Given the description of an element on the screen output the (x, y) to click on. 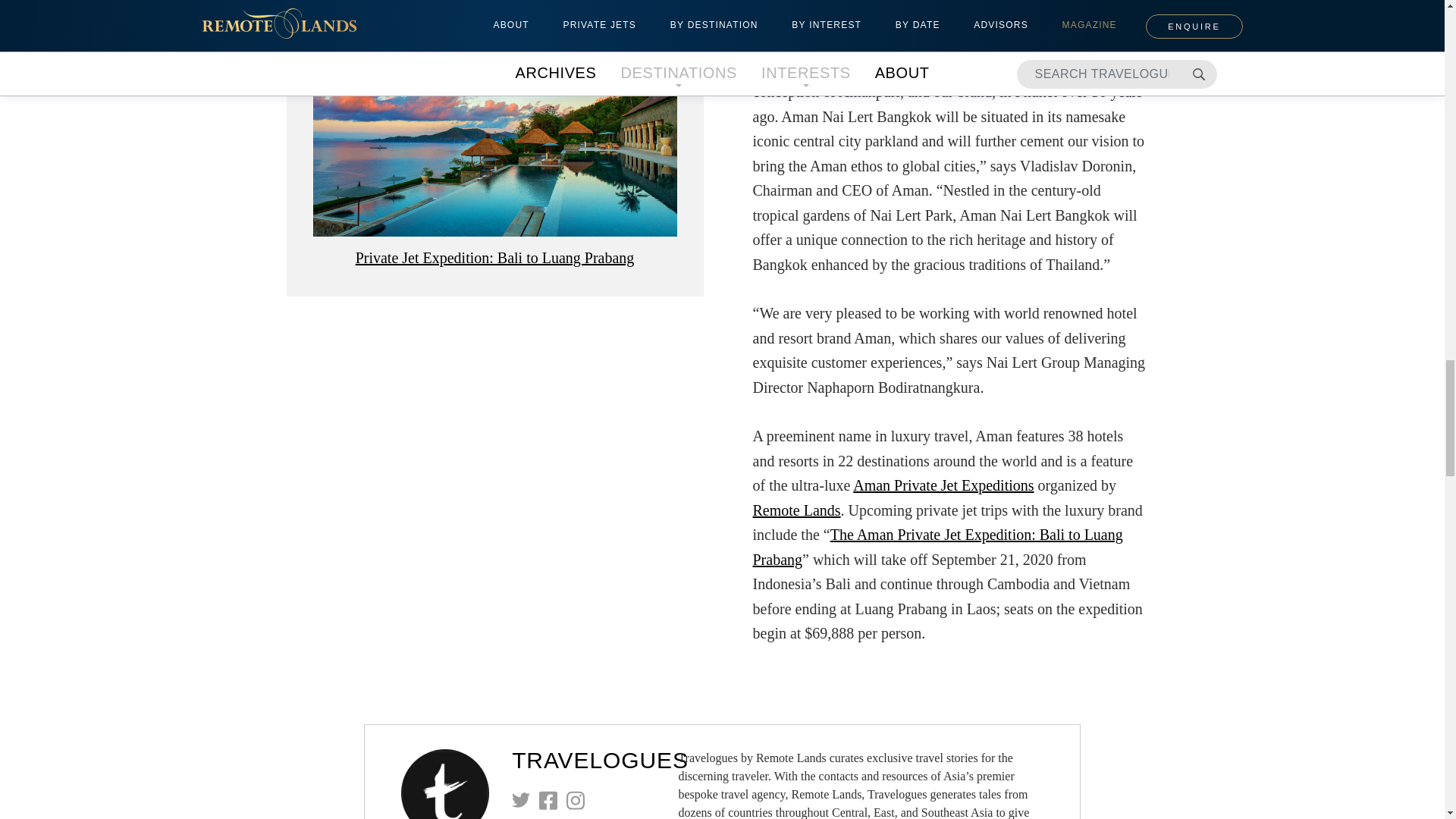
b190617002 (495, 147)
